Given the description of an element on the screen output the (x, y) to click on. 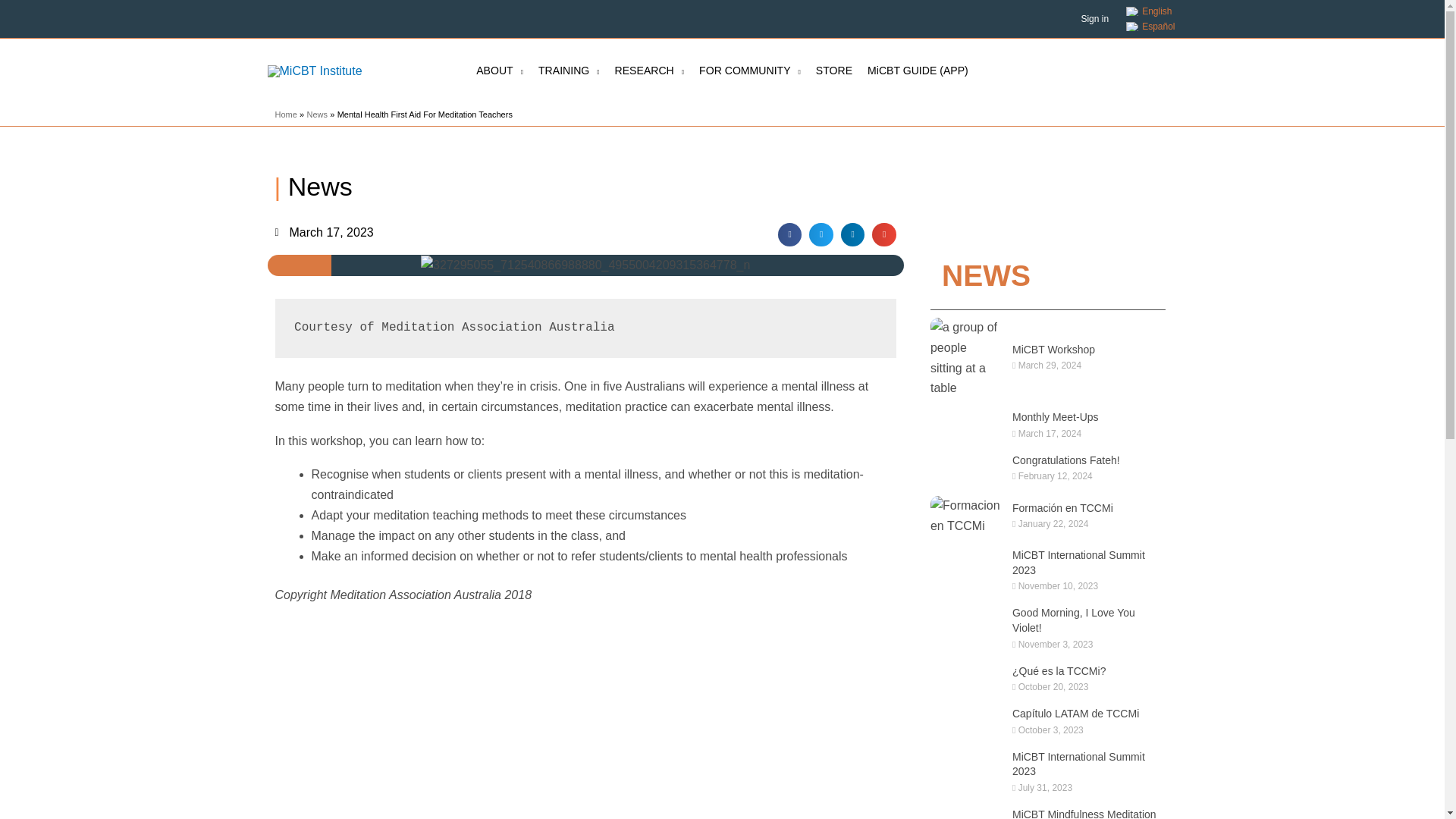
English (1149, 10)
Sign in (1094, 18)
ABOUT (499, 70)
